Given the description of an element on the screen output the (x, y) to click on. 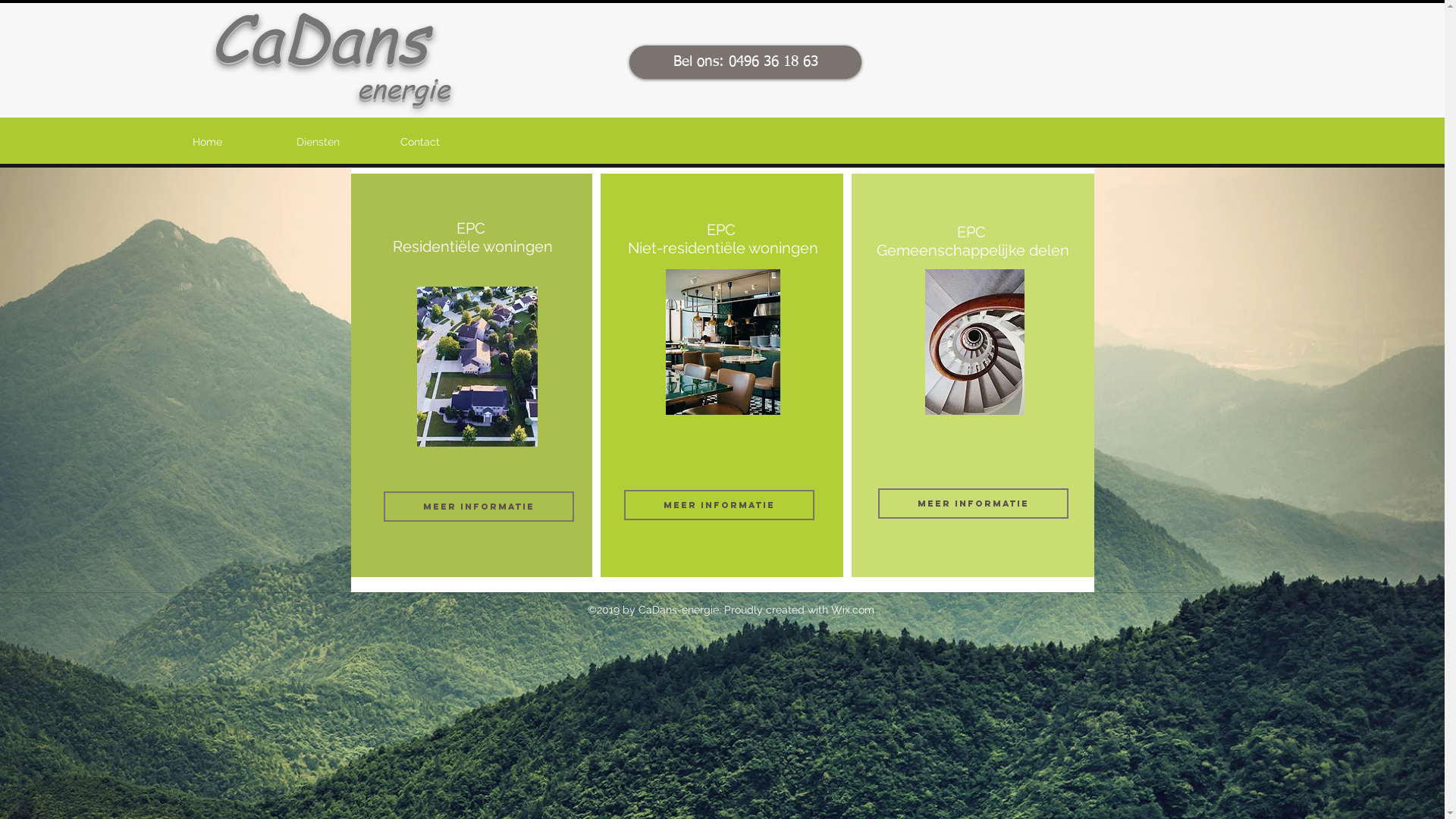
MEER INFORMATIE Element type: text (478, 506)
Contact Element type: text (444, 141)
Home Element type: text (236, 141)
Diensten Element type: text (340, 141)
Bel ons: 0496 36 18 63 Element type: text (745, 61)
MEER INFORMATIE Element type: text (718, 504)
MEER INFORMATIE Element type: text (973, 503)
